Given the description of an element on the screen output the (x, y) to click on. 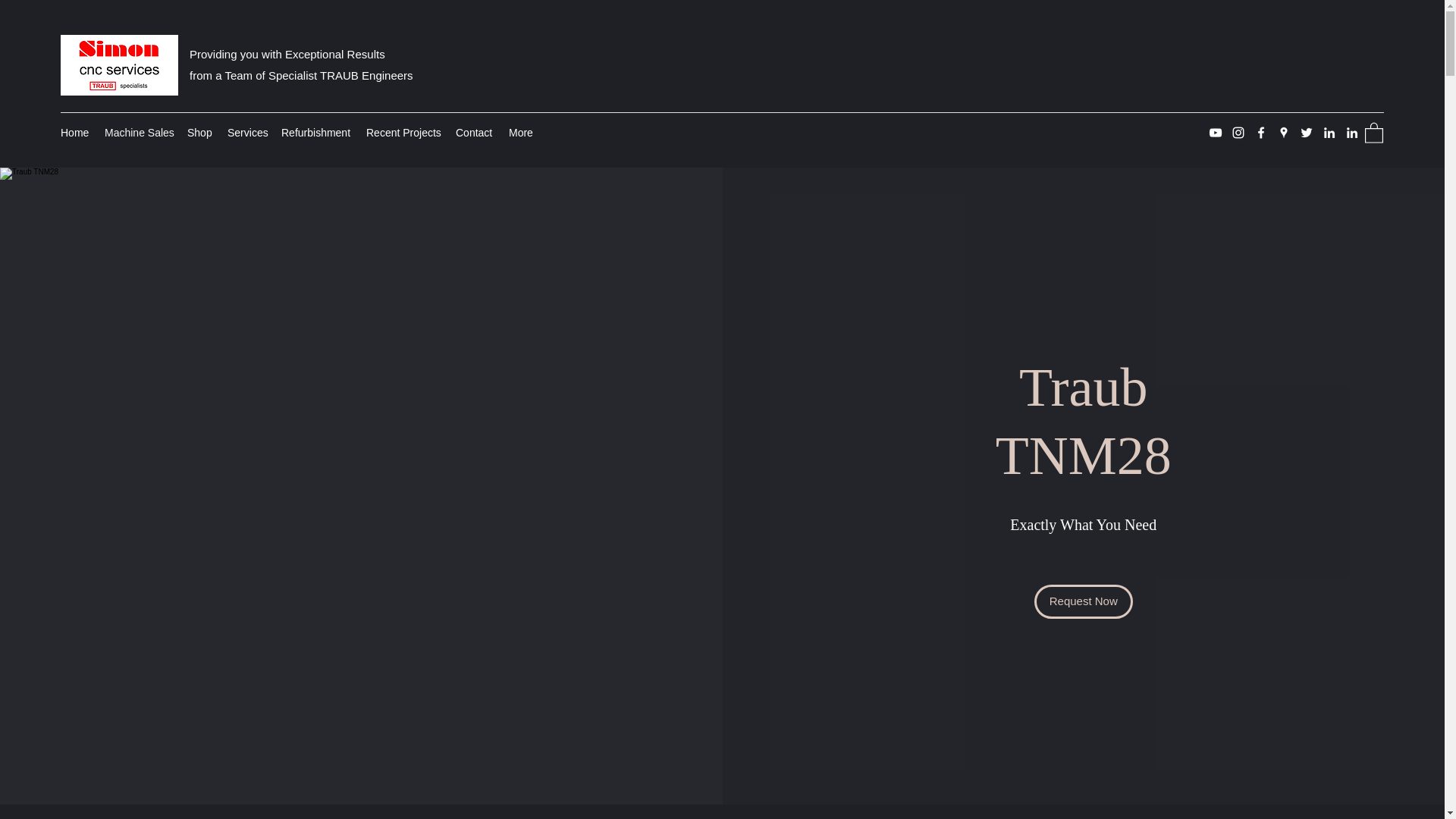
Home (74, 132)
Refurbishment (315, 132)
Machine Sales (138, 132)
Services (246, 132)
Contact (474, 132)
Request Now (1082, 601)
Recent Projects (403, 132)
Shop (199, 132)
